Given the description of an element on the screen output the (x, y) to click on. 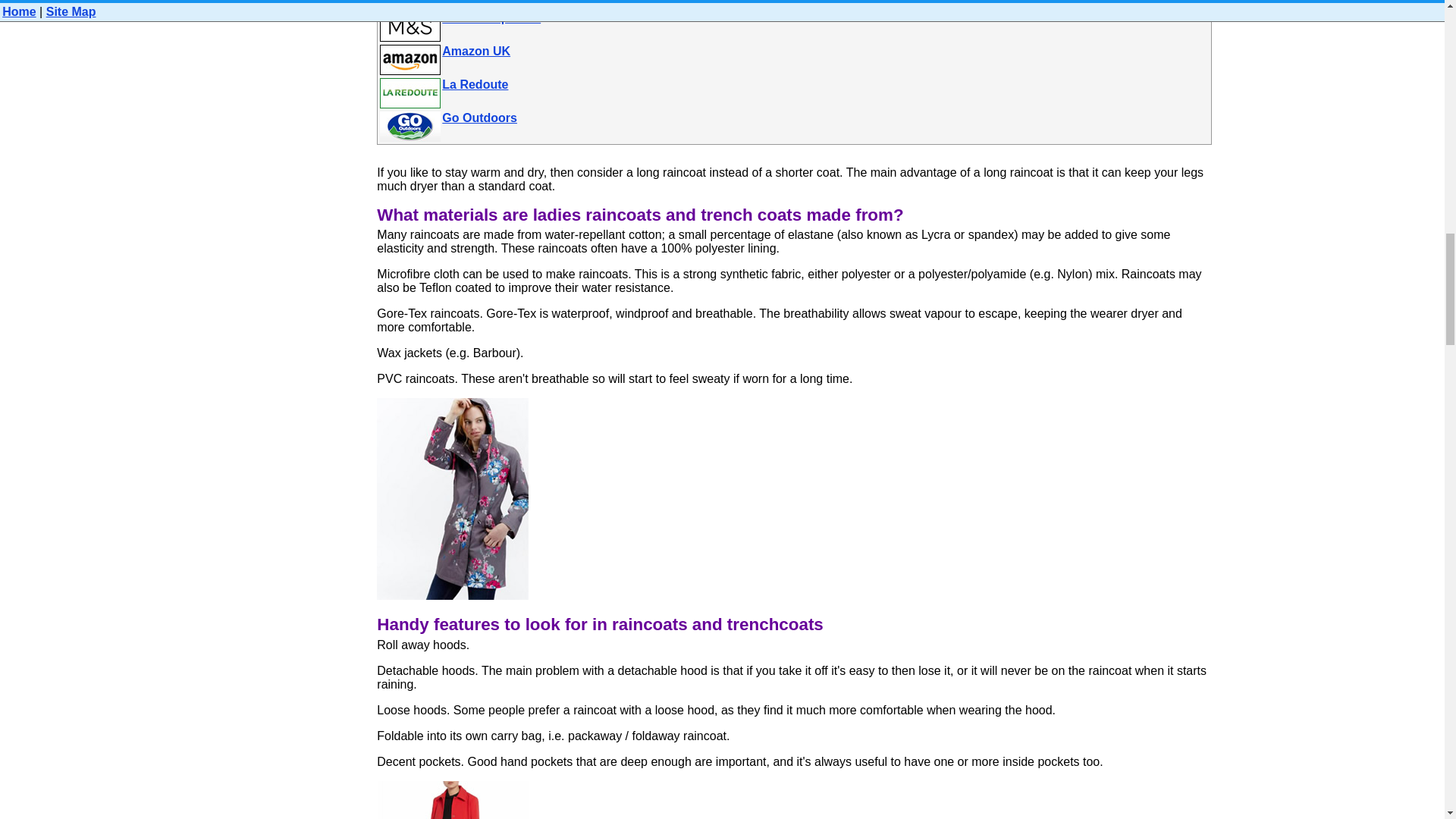
Amazon UK (476, 51)
La Redoute (475, 83)
Go Outdoors (479, 117)
